Given the description of an element on the screen output the (x, y) to click on. 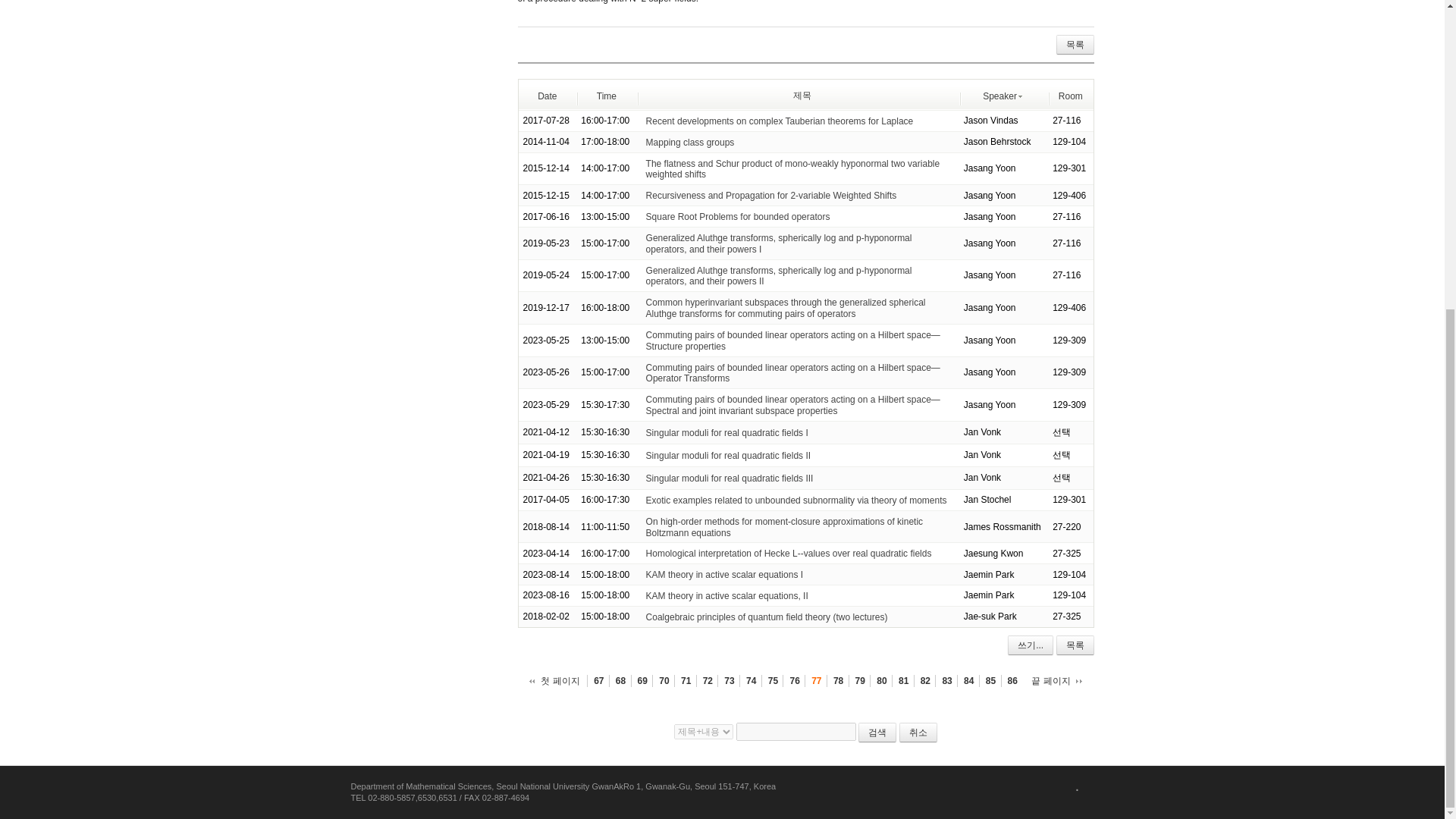
Mapping class groups (690, 142)
Date (546, 95)
Recursiveness and Propagation for 2-variable Weighted Shifts (771, 195)
Room (1070, 95)
Speaker (1002, 95)
Time (605, 95)
